Given the description of an element on the screen output the (x, y) to click on. 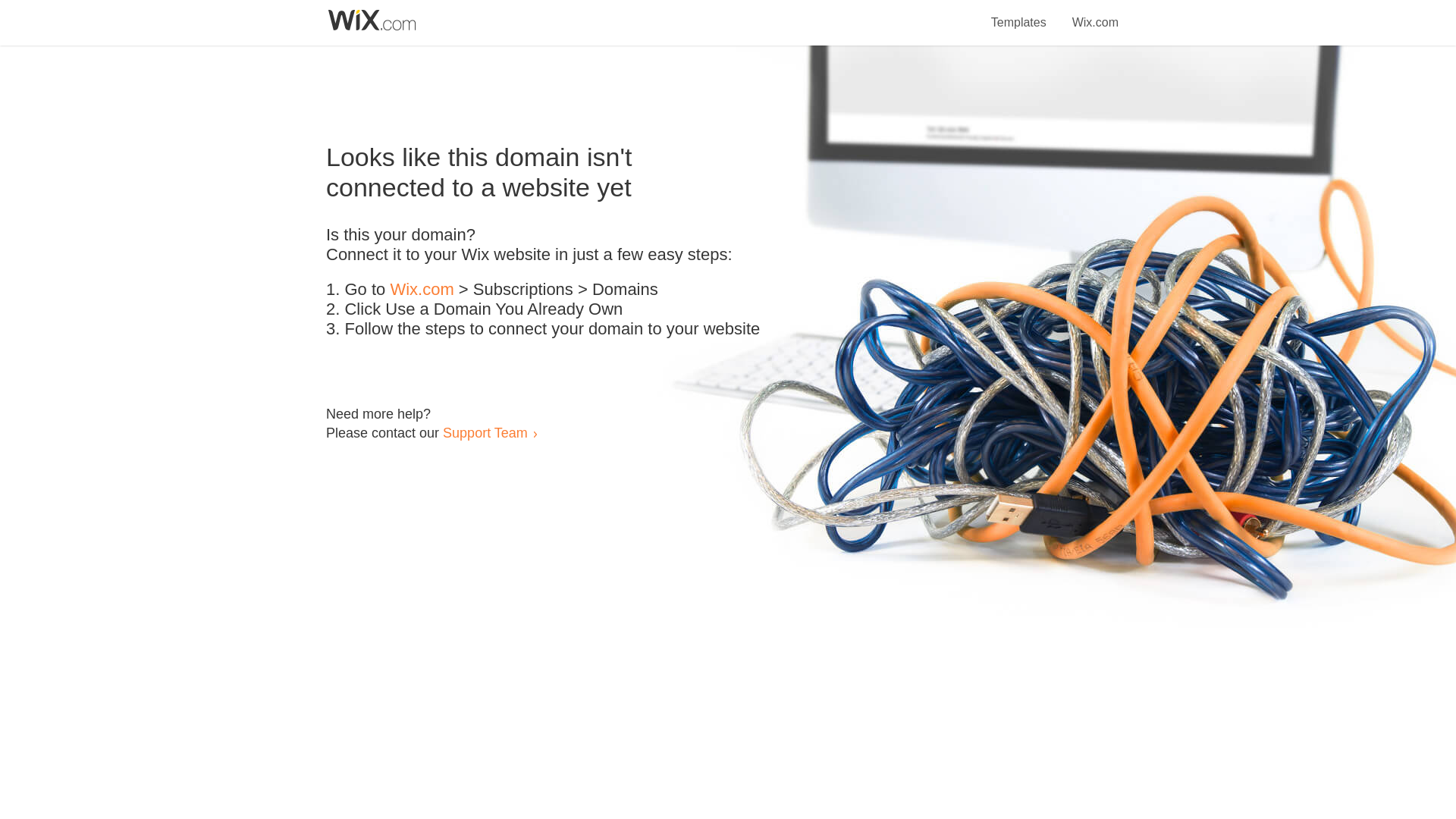
Support Team (484, 432)
Wix.com (1095, 14)
Templates (1018, 14)
Wix.com (421, 289)
